Given the description of an element on the screen output the (x, y) to click on. 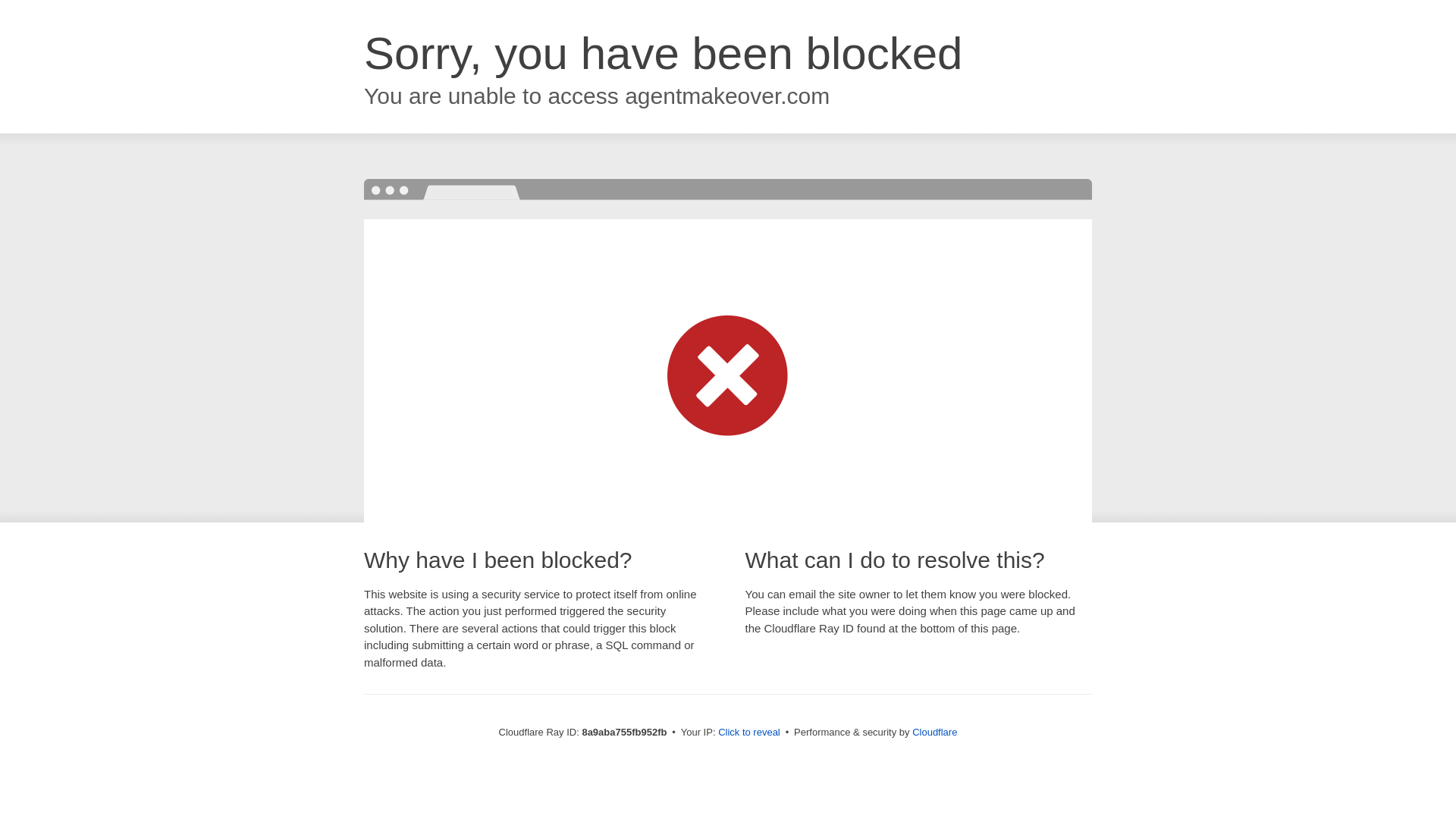
Click to reveal (748, 732)
Cloudflare (934, 731)
